Given the description of an element on the screen output the (x, y) to click on. 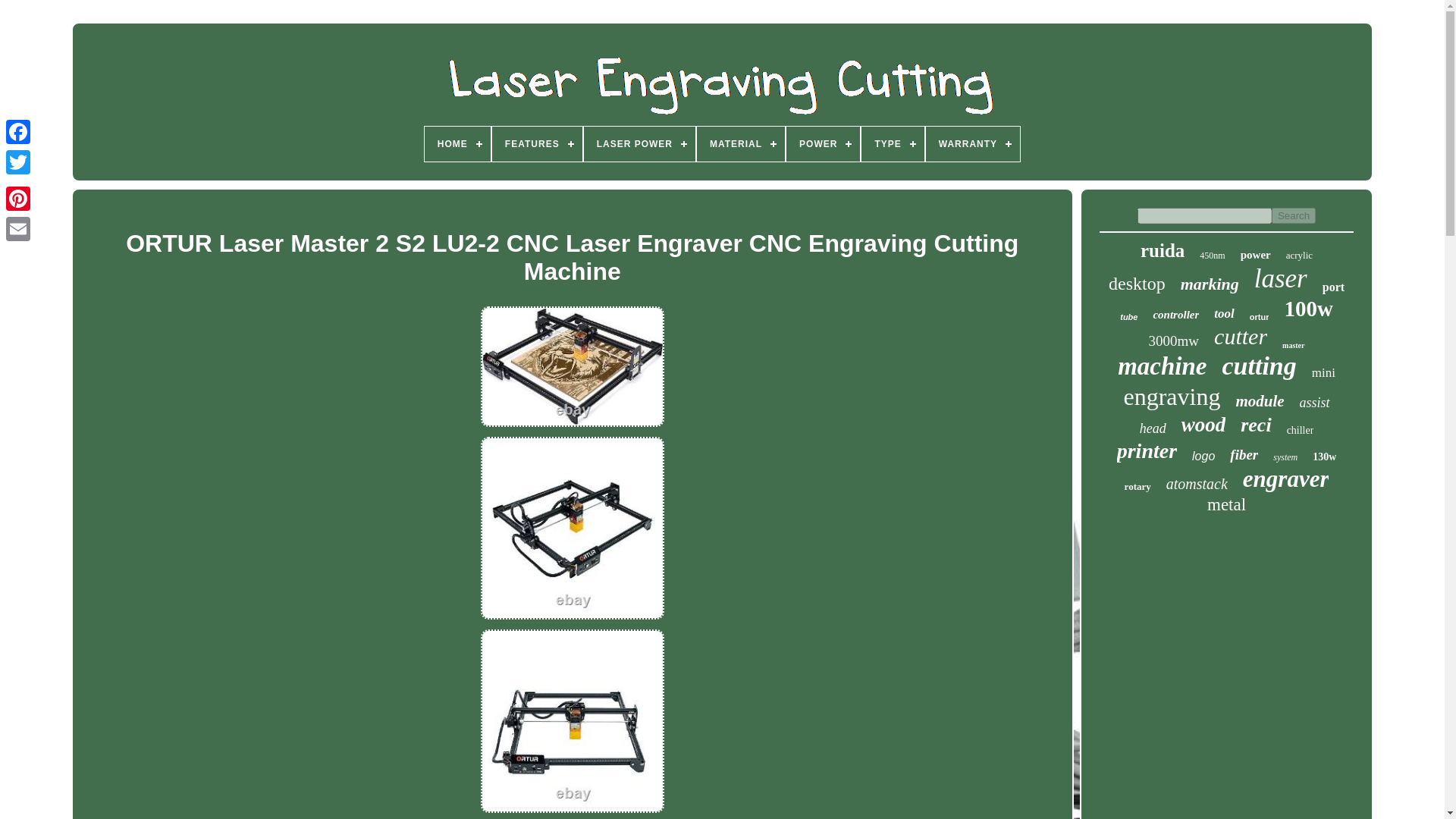
HOME (457, 143)
FEATURES (537, 143)
MATERIAL (740, 143)
LASER POWER (639, 143)
Search (1293, 215)
